Given the description of an element on the screen output the (x, y) to click on. 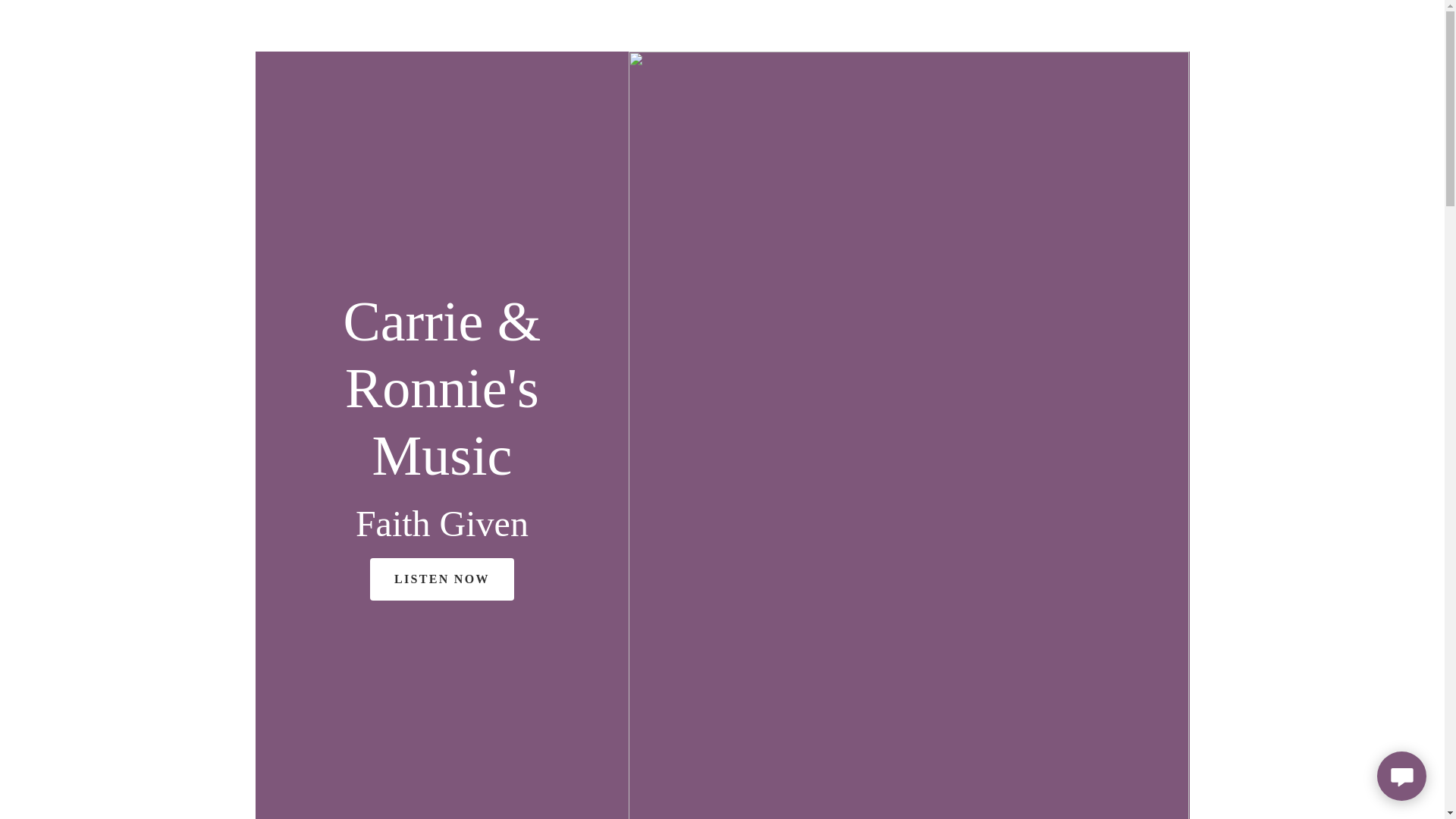
LISTEN NOW (441, 578)
